Given the description of an element on the screen output the (x, y) to click on. 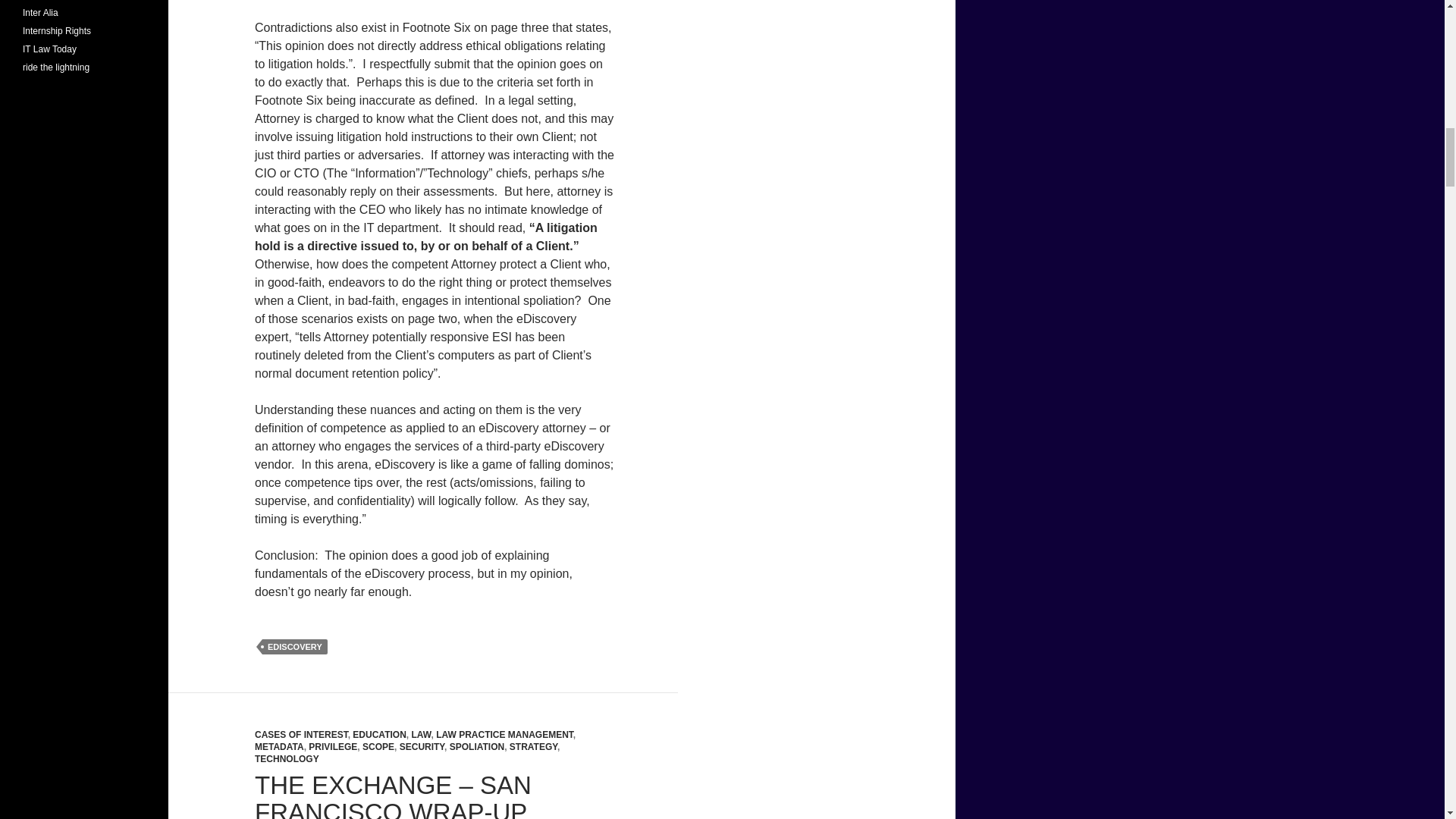
LAW PRACTICE MANAGEMENT (504, 734)
CASES OF INTEREST (300, 734)
LAW (420, 734)
EDUCATION (379, 734)
EDISCOVERY (294, 646)
